Given the description of an element on the screen output the (x, y) to click on. 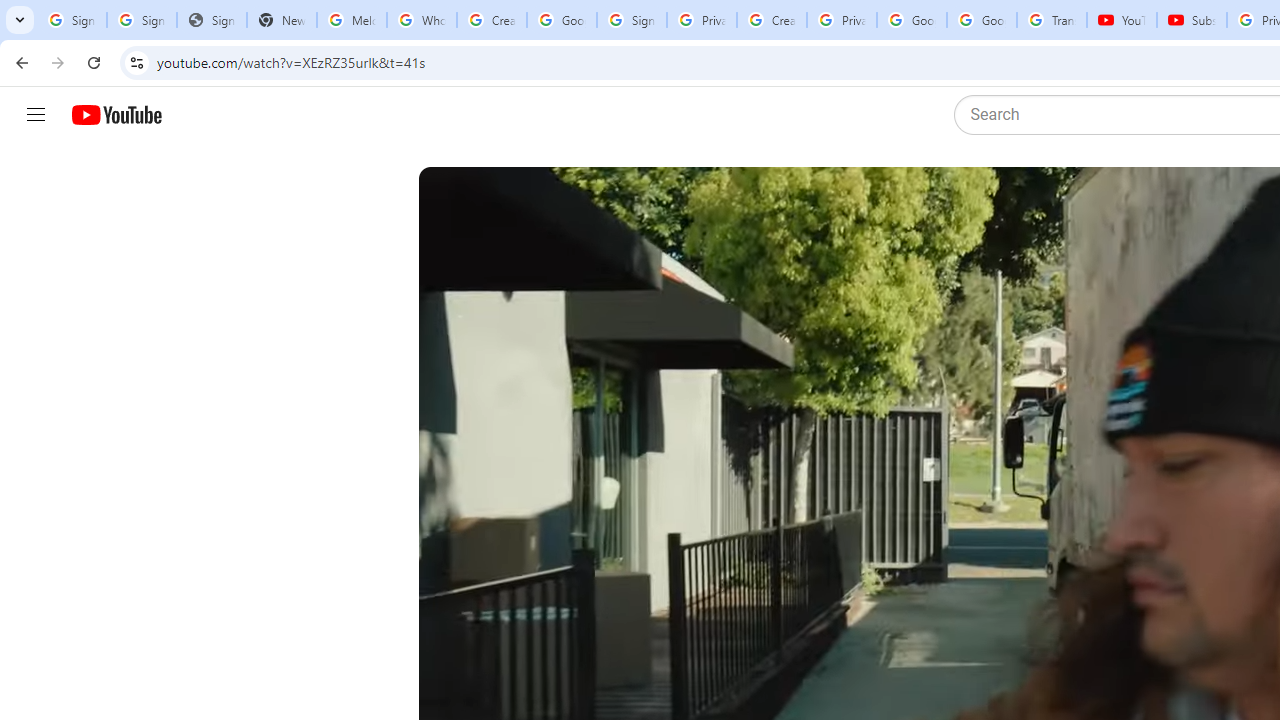
YouTube Home (116, 115)
Guide (35, 115)
Who is my administrator? - Google Account Help (421, 20)
Create your Google Account (772, 20)
Subscriptions - YouTube (1192, 20)
